Given the description of an element on the screen output the (x, y) to click on. 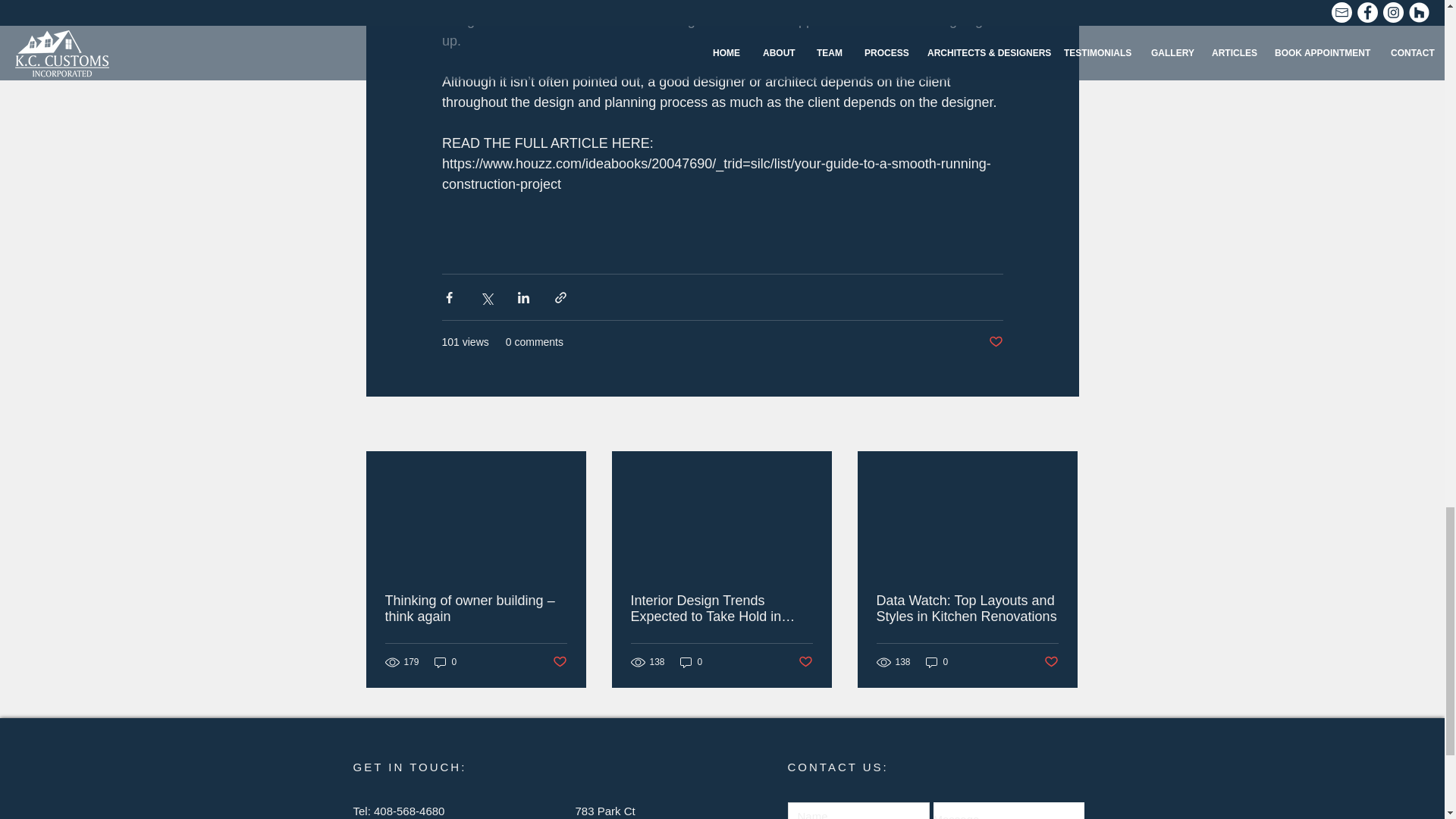
Post not marked as liked (995, 342)
0 (445, 662)
Data Watch: Top Layouts and Styles in Kitchen Renovations (967, 608)
0 (937, 662)
Post not marked as liked (1050, 662)
Post not marked as liked (558, 662)
Post not marked as liked (804, 662)
Interior Design Trends Expected to Take Hold in 2018 (721, 608)
See All (1061, 424)
0 (691, 662)
